Given the description of an element on the screen output the (x, y) to click on. 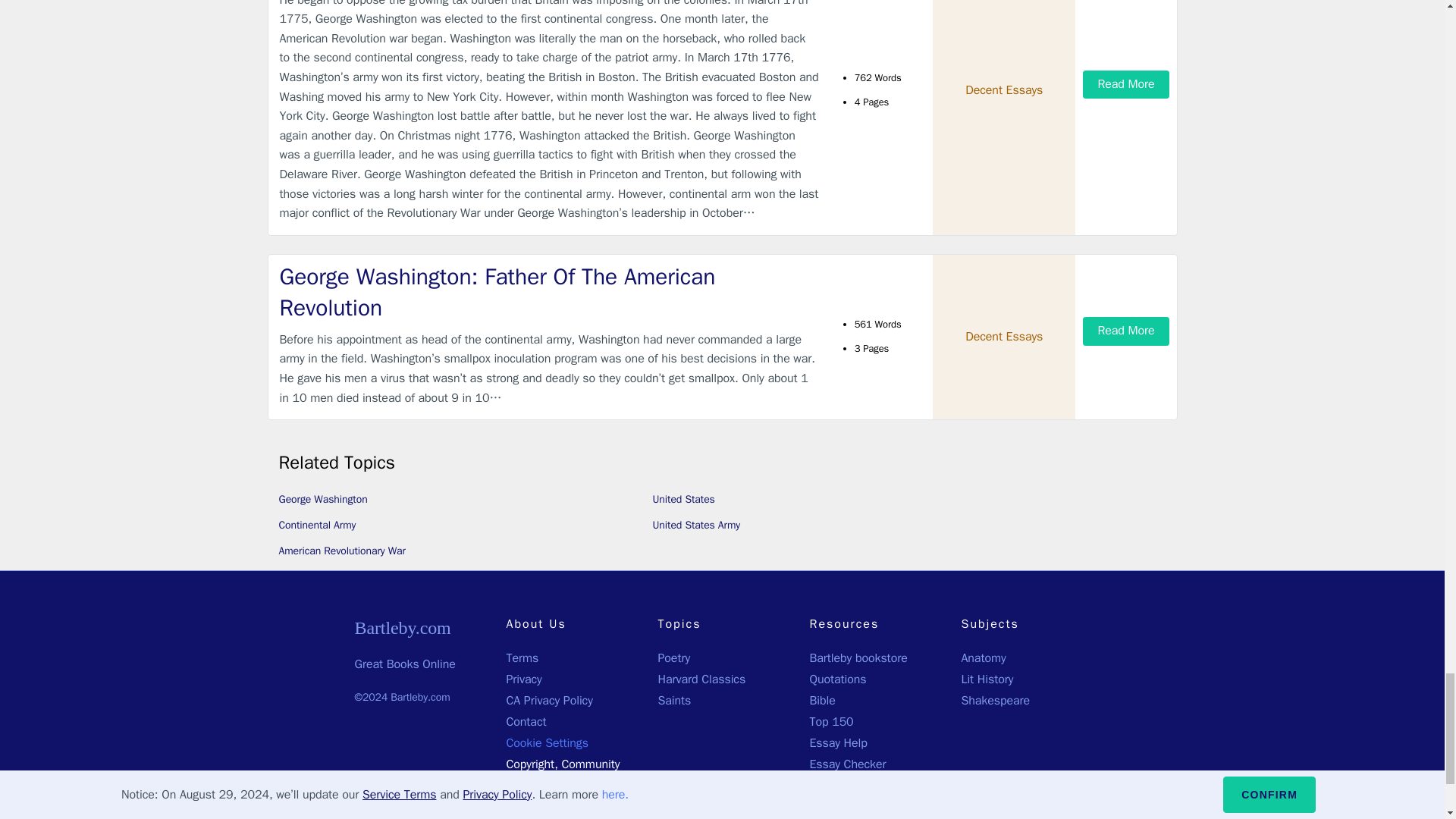
George Washington (323, 499)
United States (683, 499)
United States Army (695, 524)
Continental Army (317, 524)
American Revolutionary War (342, 550)
